Given the description of an element on the screen output the (x, y) to click on. 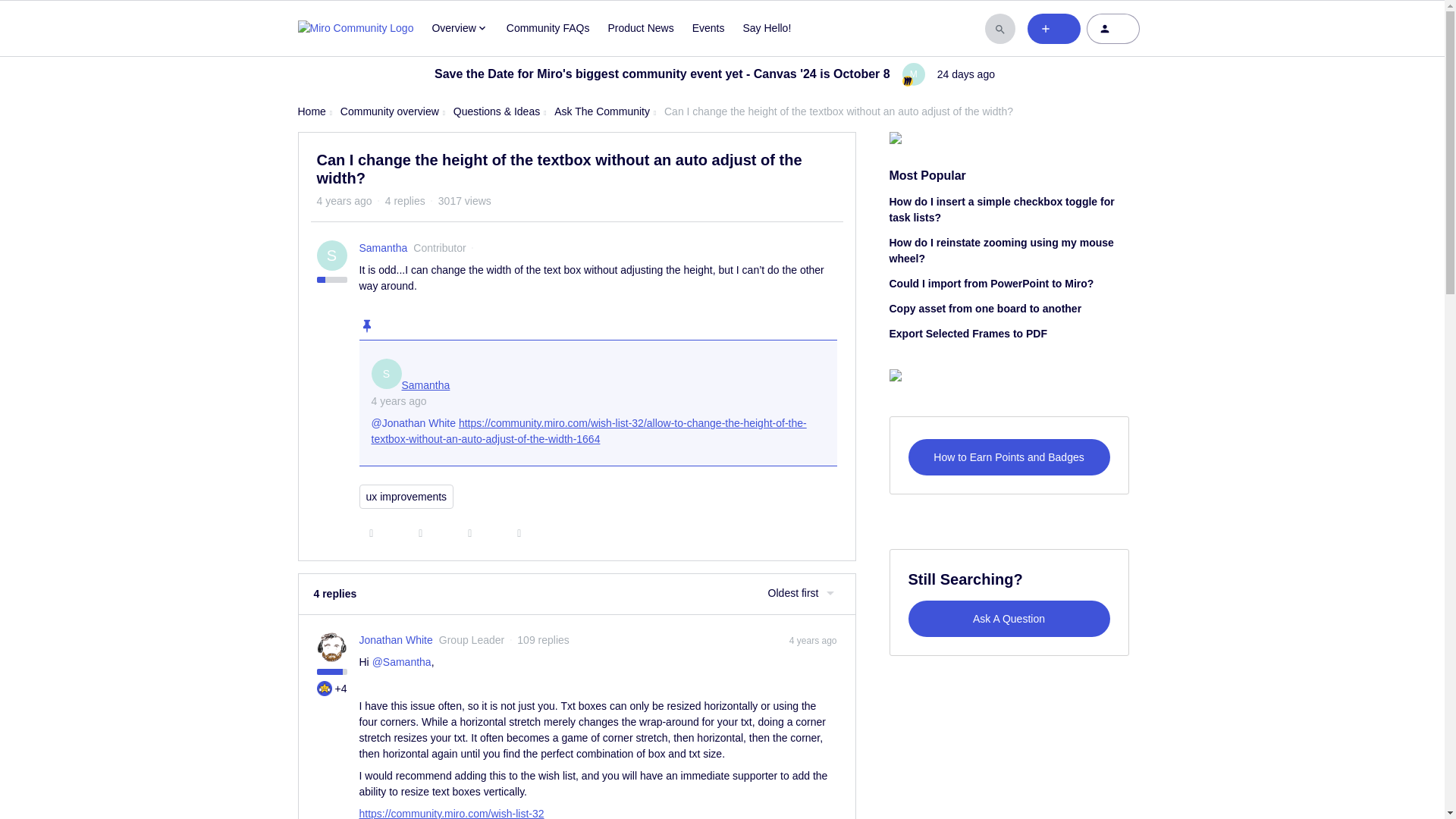
Say Hello! (766, 28)
Overview (458, 28)
Contributor (439, 247)
Miro Hero (324, 688)
S (386, 373)
Events (709, 28)
Samantha (383, 248)
S (332, 255)
Jonathan White (395, 640)
Product News (641, 28)
